Given the description of an element on the screen output the (x, y) to click on. 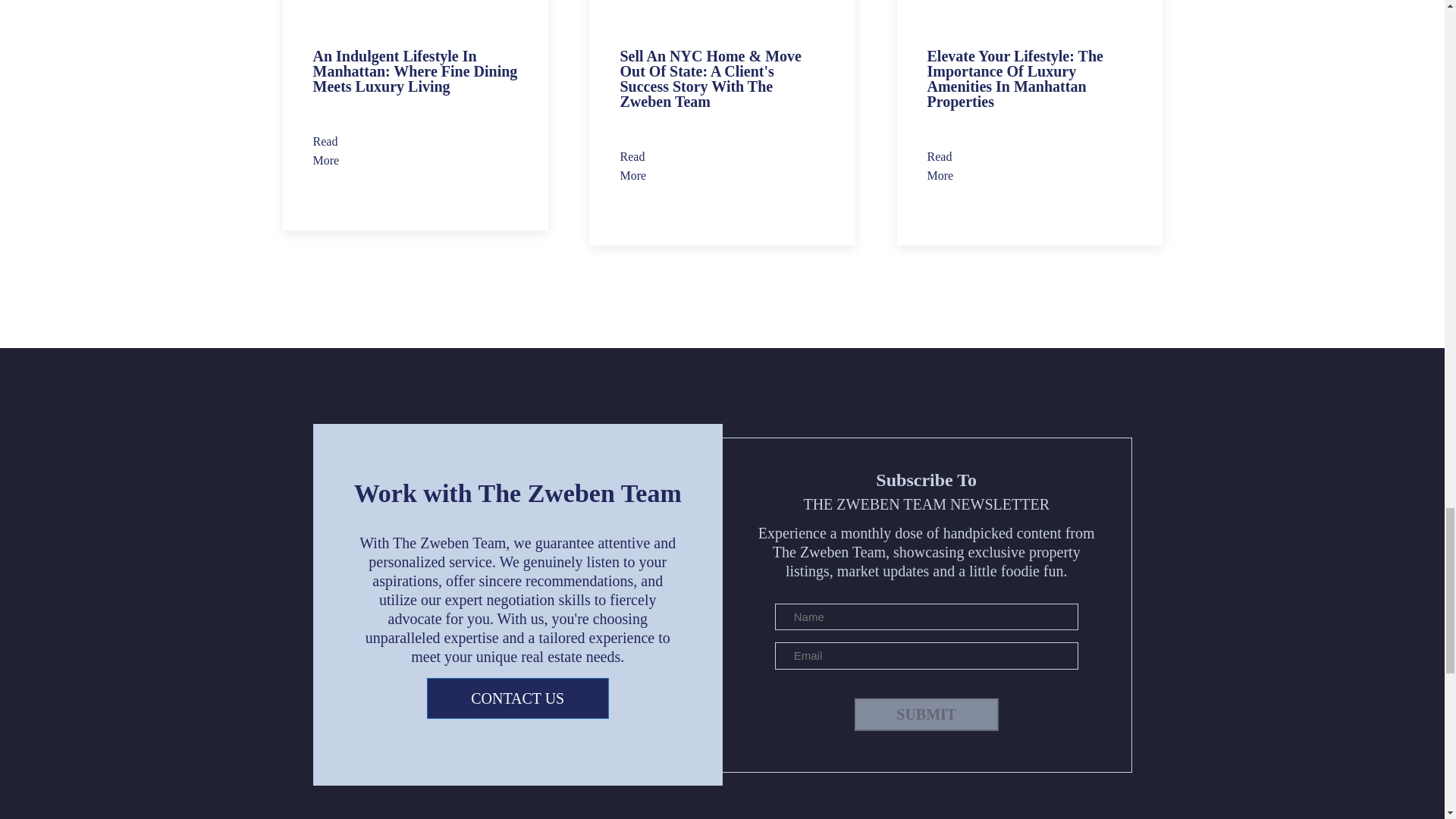
Submit (926, 714)
Submit (926, 714)
CONTACT US (517, 698)
